Given the description of an element on the screen output the (x, y) to click on. 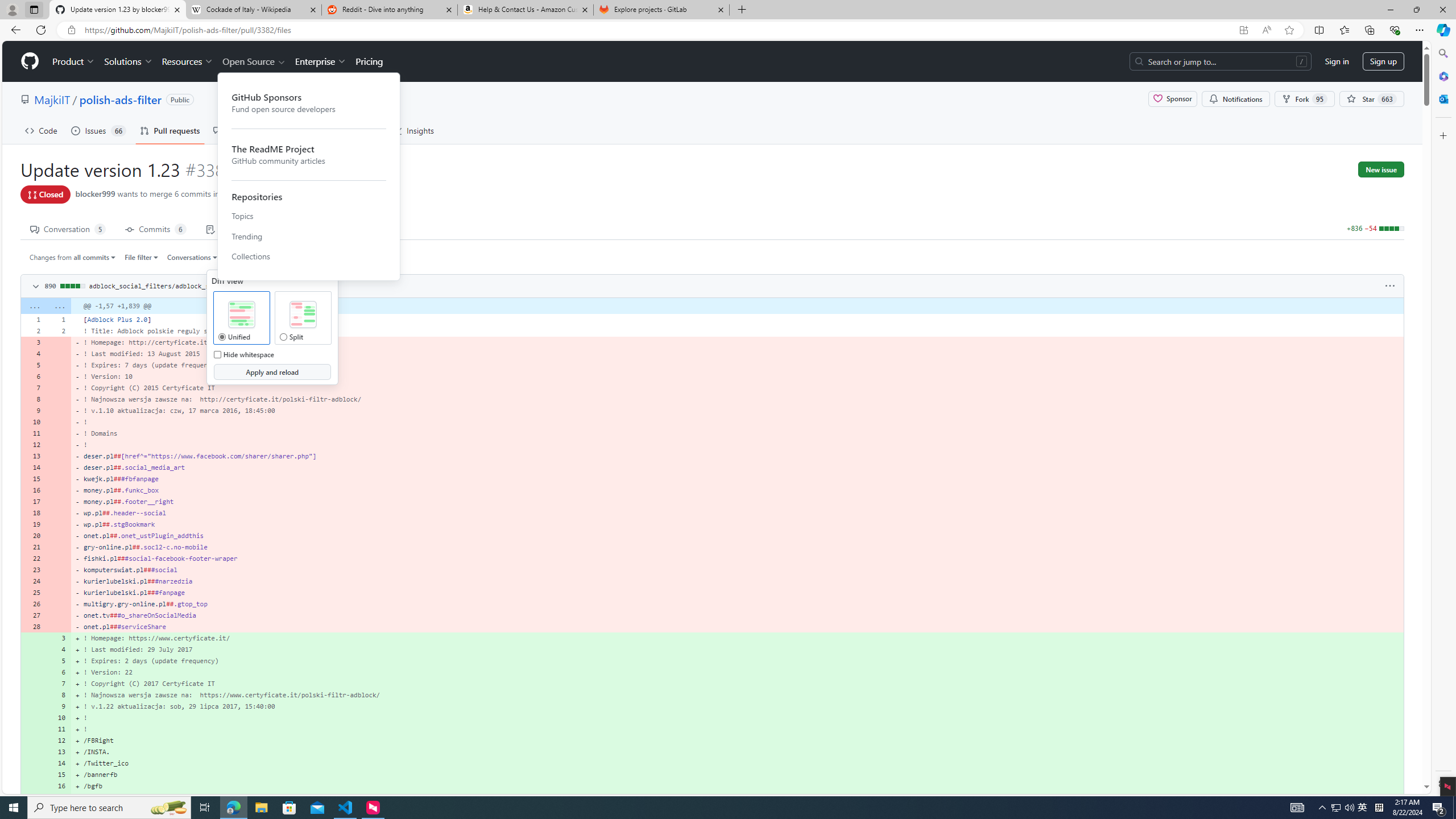
Trending (309, 236)
15 (58, 774)
polish-ads-filter (119, 99)
18 (33, 512)
Code (41, 130)
blocker999 (95, 193)
New issue (1380, 169)
- money.pl##.footer__right (737, 501)
11 (58, 728)
19 (33, 523)
The ReadME ProjectGitHub community articles (309, 154)
Jump to (241, 257)
5 (58, 660)
- ! Last modified: 13 August 2015 (737, 353)
Diff settings (274, 257)
